Given the description of an element on the screen output the (x, y) to click on. 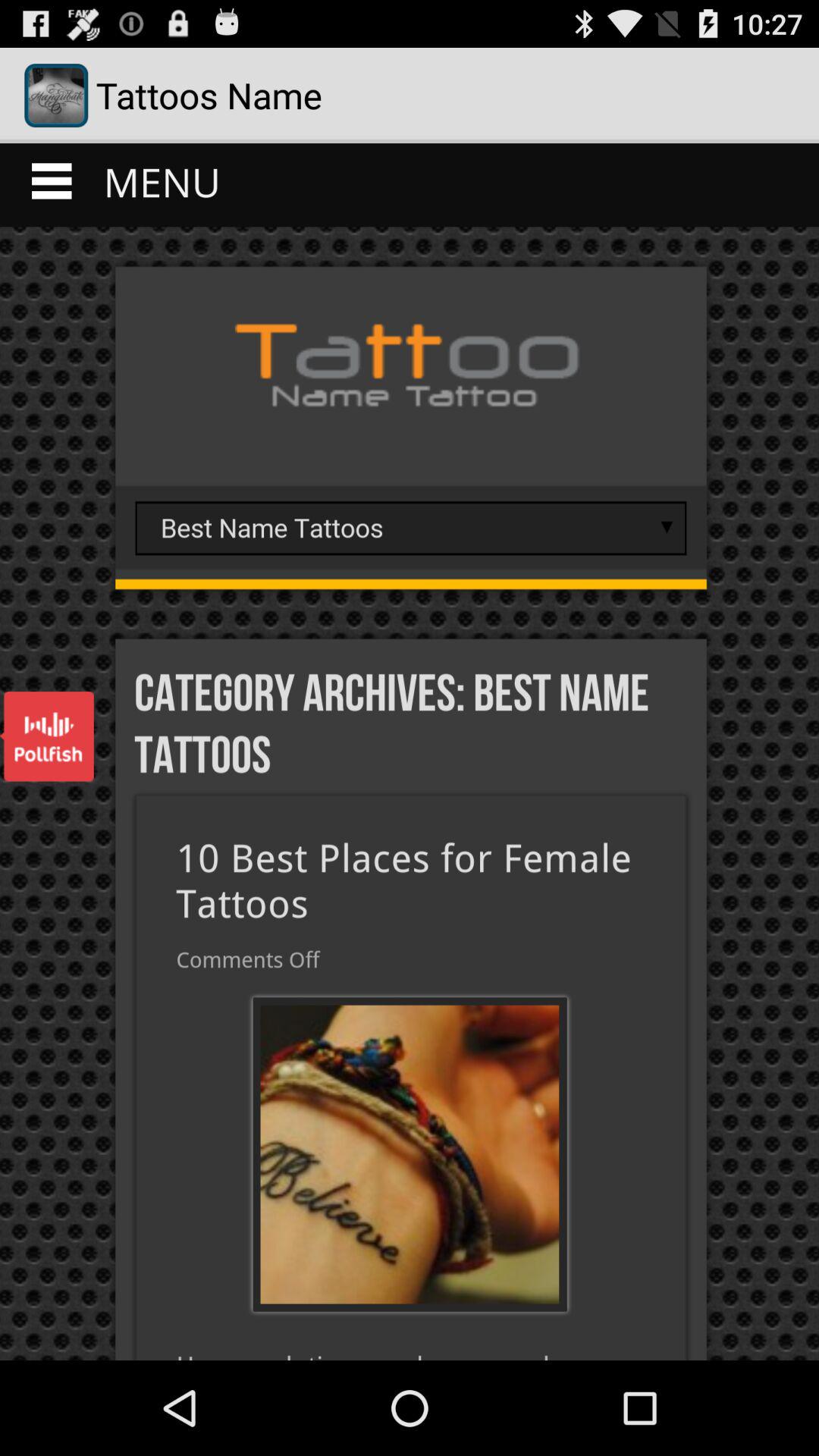
open polifish (46, 736)
